Given the description of an element on the screen output the (x, y) to click on. 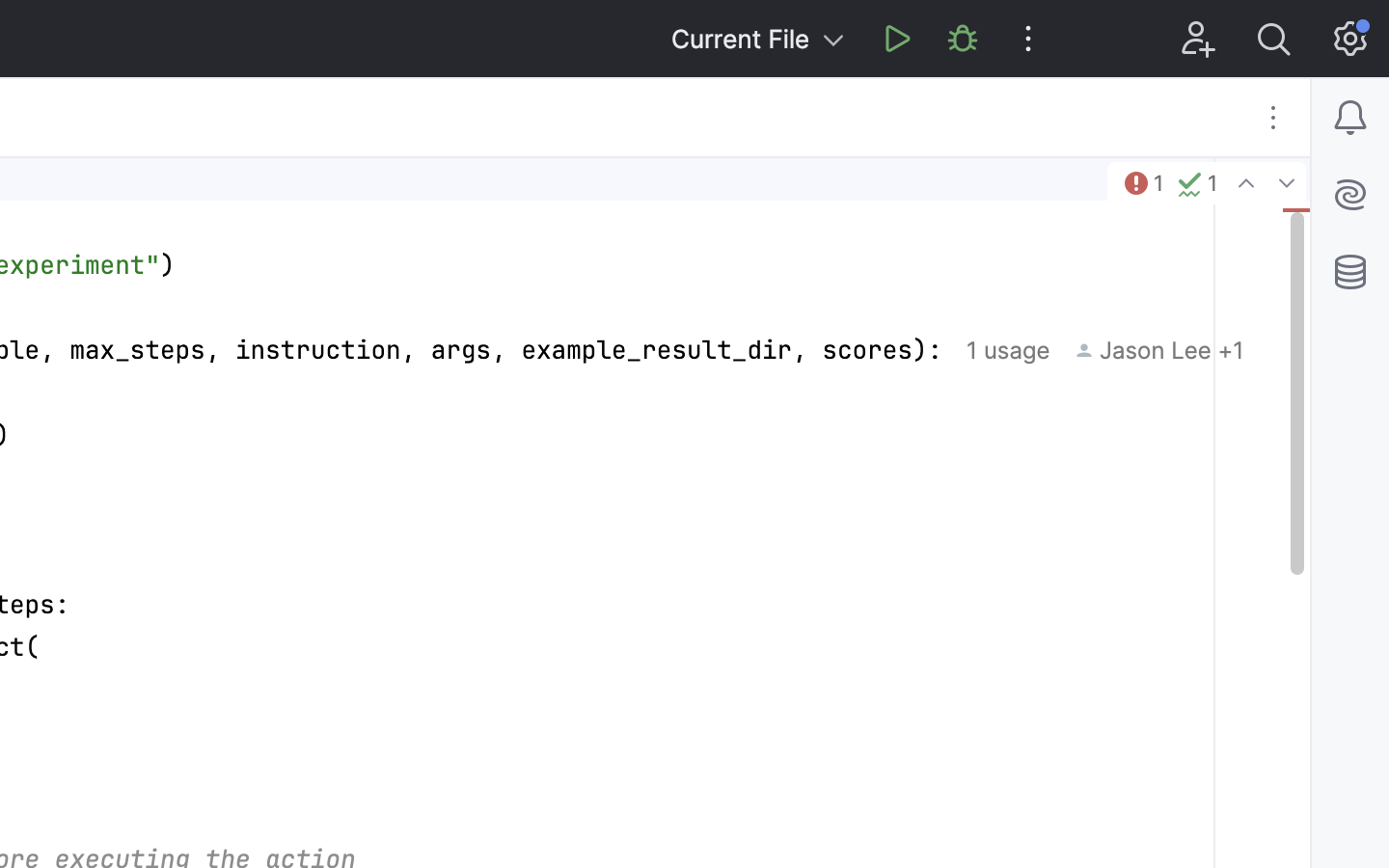
1 Element type: AXStaticText (1141, 182)
